Given the description of an element on the screen output the (x, y) to click on. 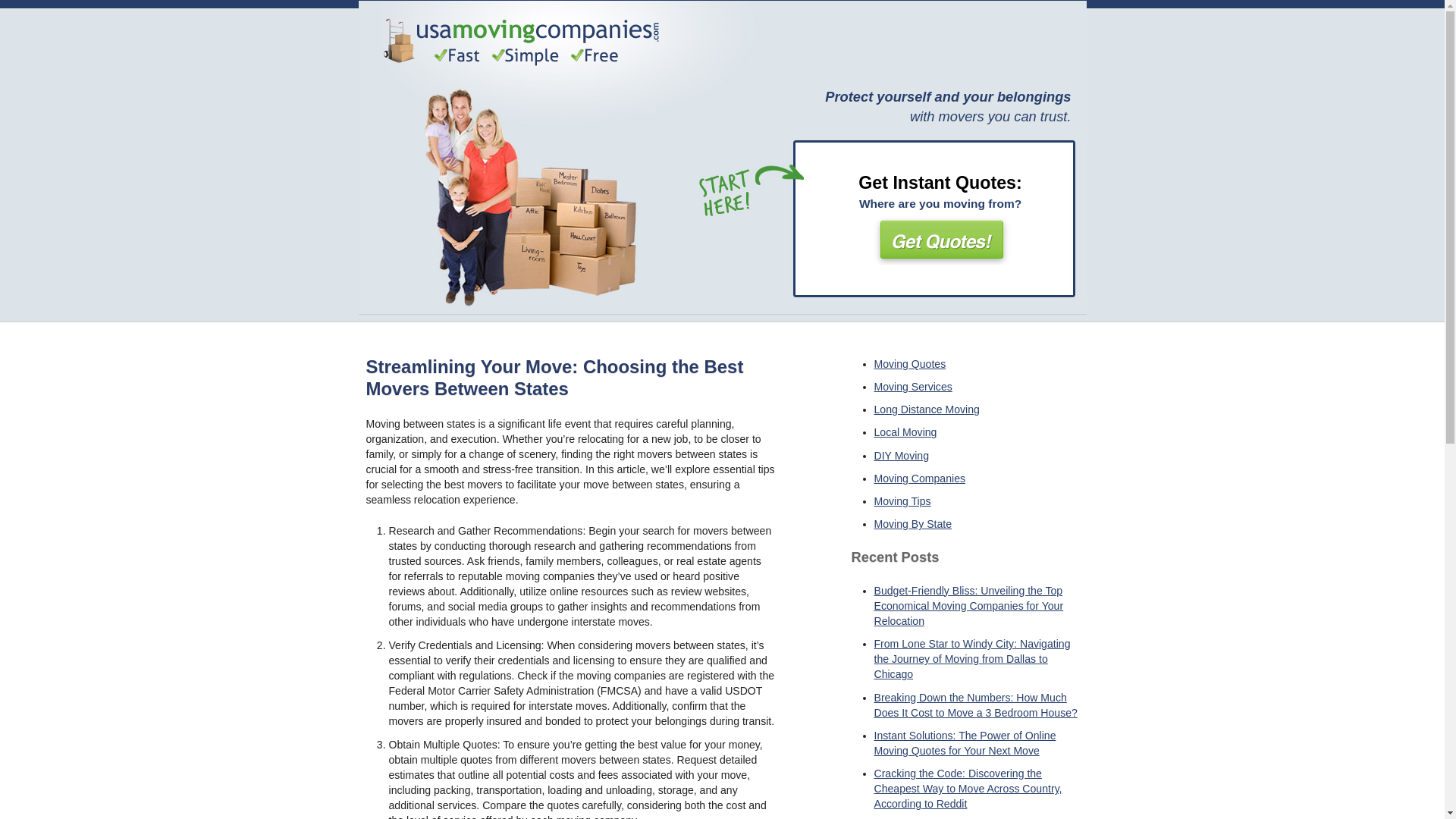
Local Moving (904, 431)
Moving Tips (901, 500)
Long Distance Moving (925, 409)
Moving Quotes (908, 363)
DIY Moving (900, 455)
Moving Companies (919, 478)
Moving Services (912, 386)
Get Quotes (939, 238)
Moving By State (912, 523)
